Given the description of an element on the screen output the (x, y) to click on. 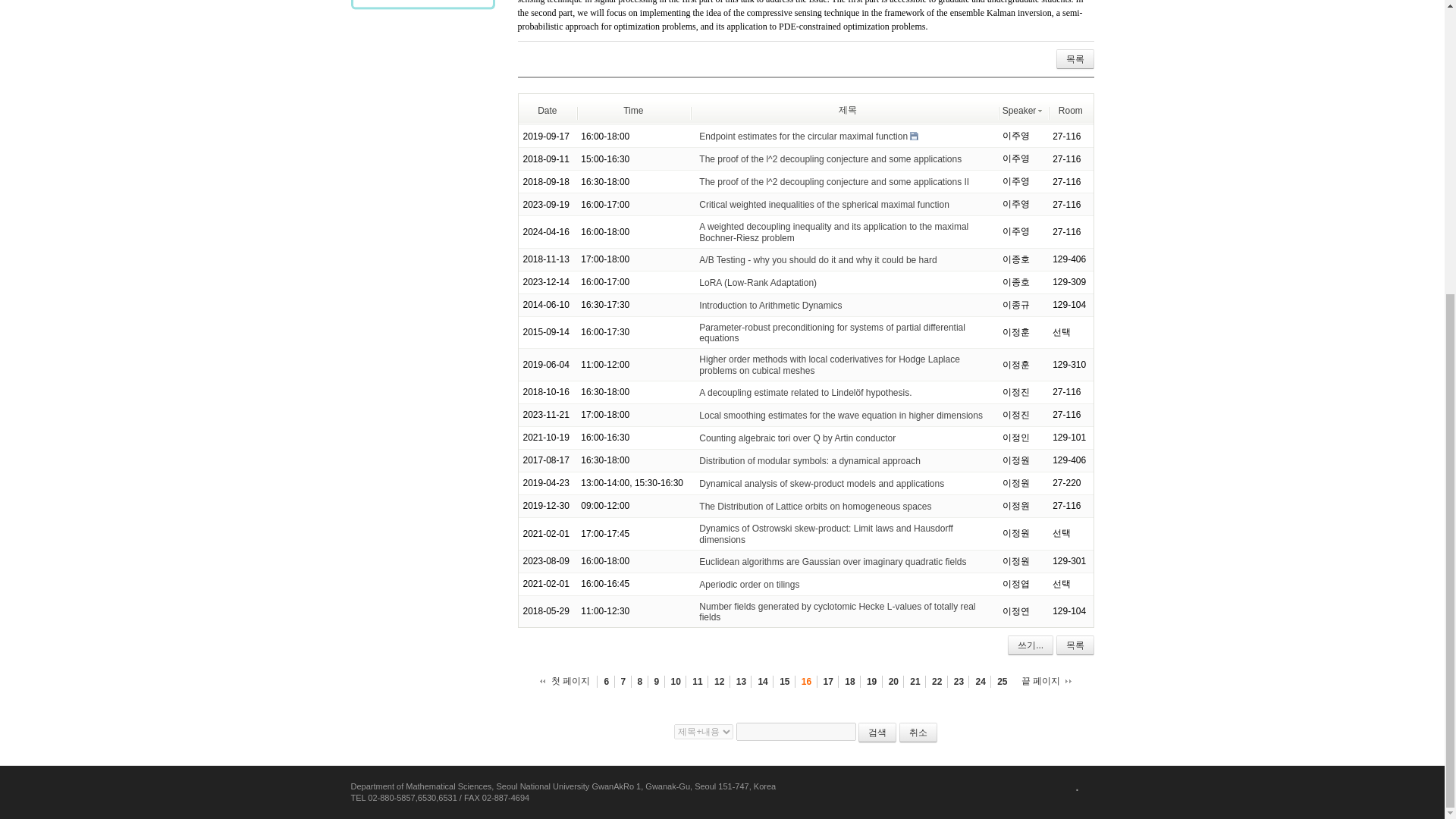
Date (546, 110)
Time (633, 110)
Endpoint estimates for the circular maximal function (802, 136)
Room (1070, 110)
file (914, 135)
Speaker (1023, 110)
